Given the description of an element on the screen output the (x, y) to click on. 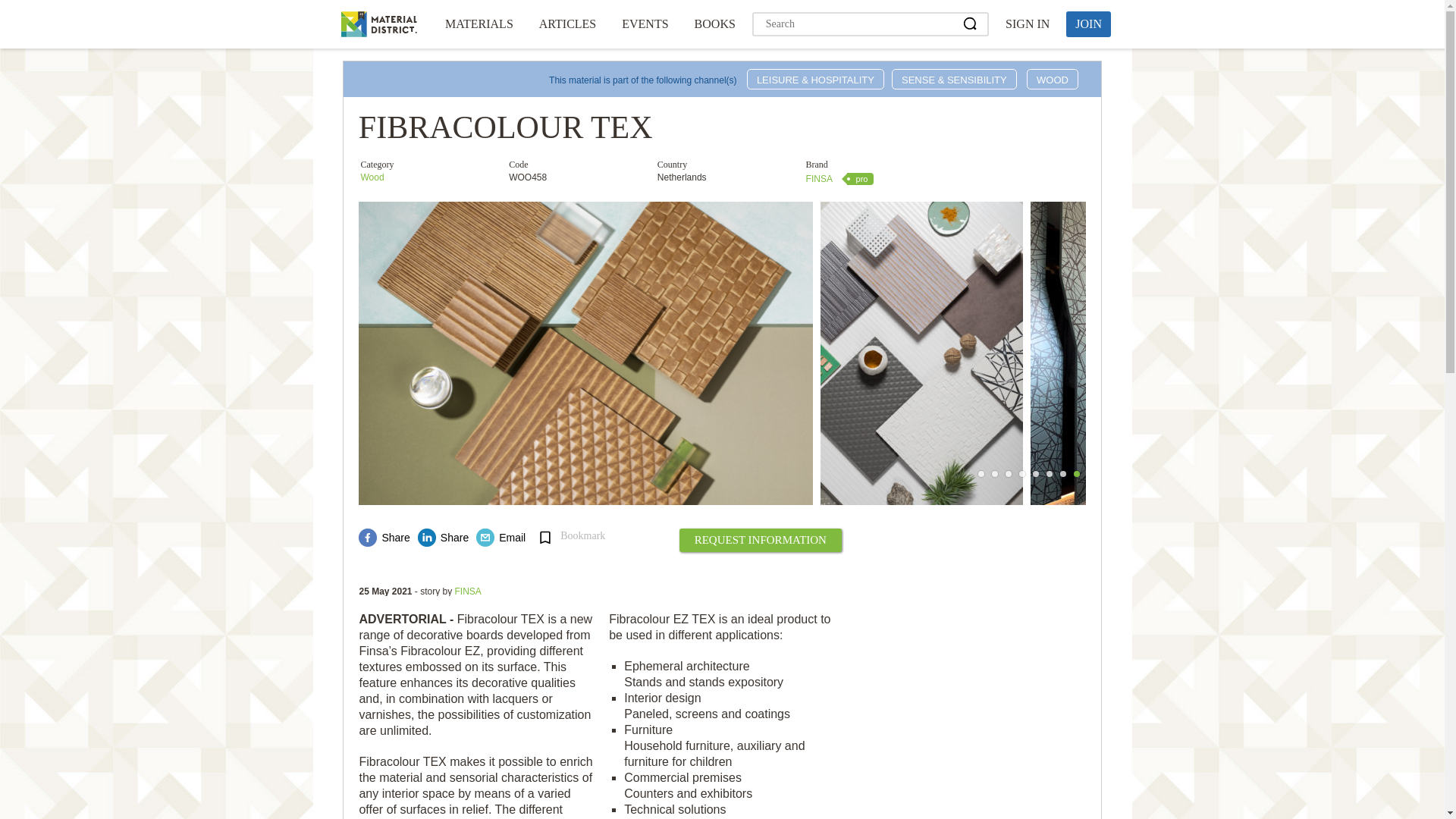
Wood (371, 176)
REQUEST INFORMATION (760, 540)
Share (383, 537)
WOOD (1052, 78)
3rd party ad content (969, 628)
MATERIALS (478, 23)
FINSA (467, 591)
Search (970, 24)
SIGN IN (1026, 23)
Search (970, 24)
BOOKS (714, 23)
pro (861, 178)
MATERIALDISTRICT (378, 23)
Share (442, 537)
JOIN (1087, 23)
